Given the description of an element on the screen output the (x, y) to click on. 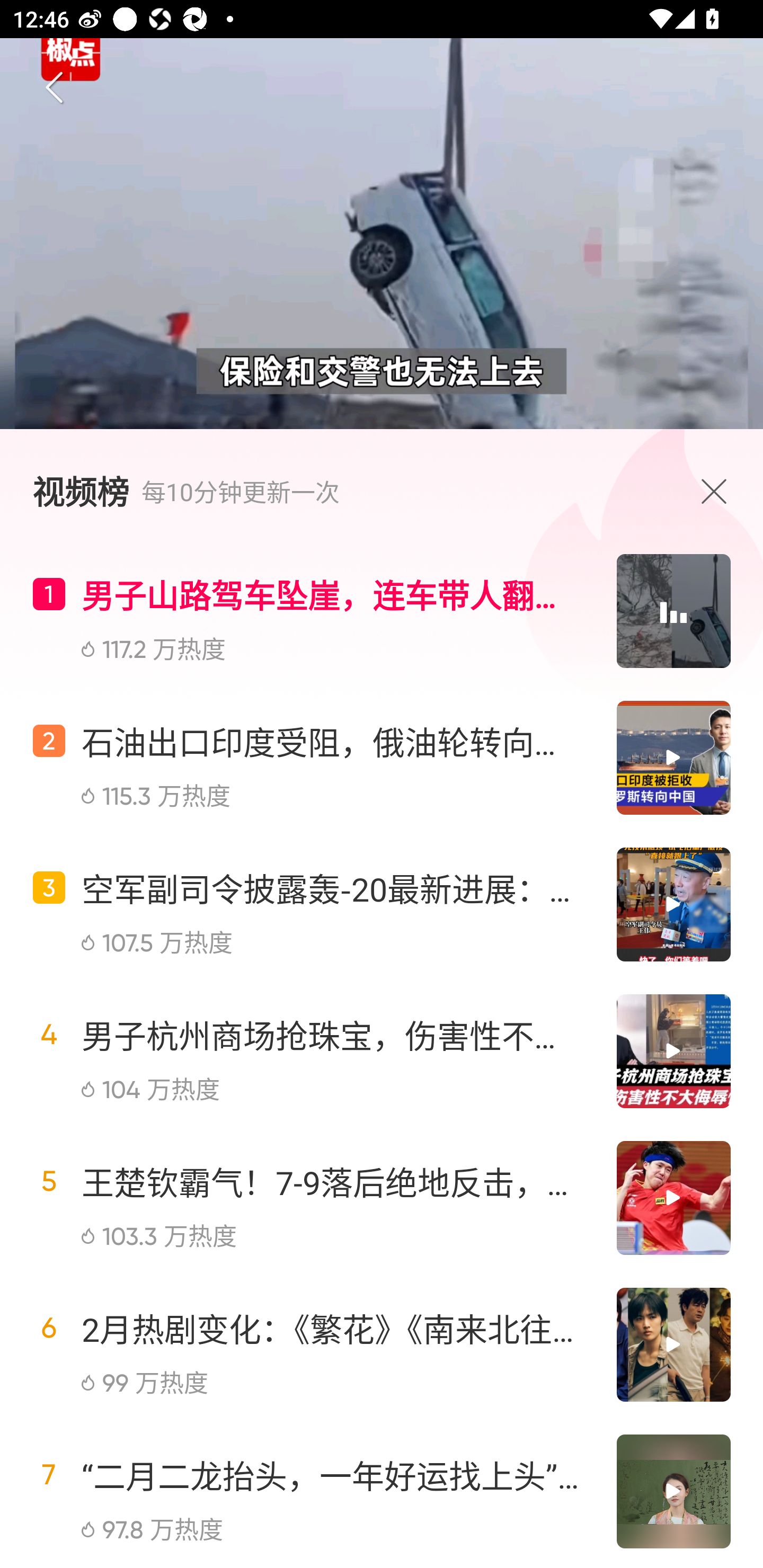
 返回 (54, 87)
 (718, 491)
1 男子山路驾车坠崖，连车带人翻了900度跌落30多米：气囊全炸开了 117.2 万热度 (381, 618)
2 石油出口印度受阻，俄油轮转向中国卸货，印军大举增兵边境，外交部回应 115.3 万热度 (381, 757)
3 空军副司令披露轰-20最新进展：无技术瓶颈，试飞后量产服役“直接就跟上了” 107.5 万热度 (381, 904)
4 男子杭州商场抢珠宝，伤害性不大侮辱性极强！匪界奇葩商界耻辱！ 104 万热度 (381, 1051)
5 王楚钦霸气！7-9落后绝地反击，轰5-1后拿下，眼神透着杀气 103.3 万热度 (381, 1197)
6 2月热剧变化：《繁花》《南来北往》相继领跑，《猎冰》后期异军突起 99 万热度 (381, 1344)
7 “二月二龙抬头，一年好运找上头”，这四个禁忌，轻易不要犯！ 97.8 万热度 (381, 1490)
